Given the description of an element on the screen output the (x, y) to click on. 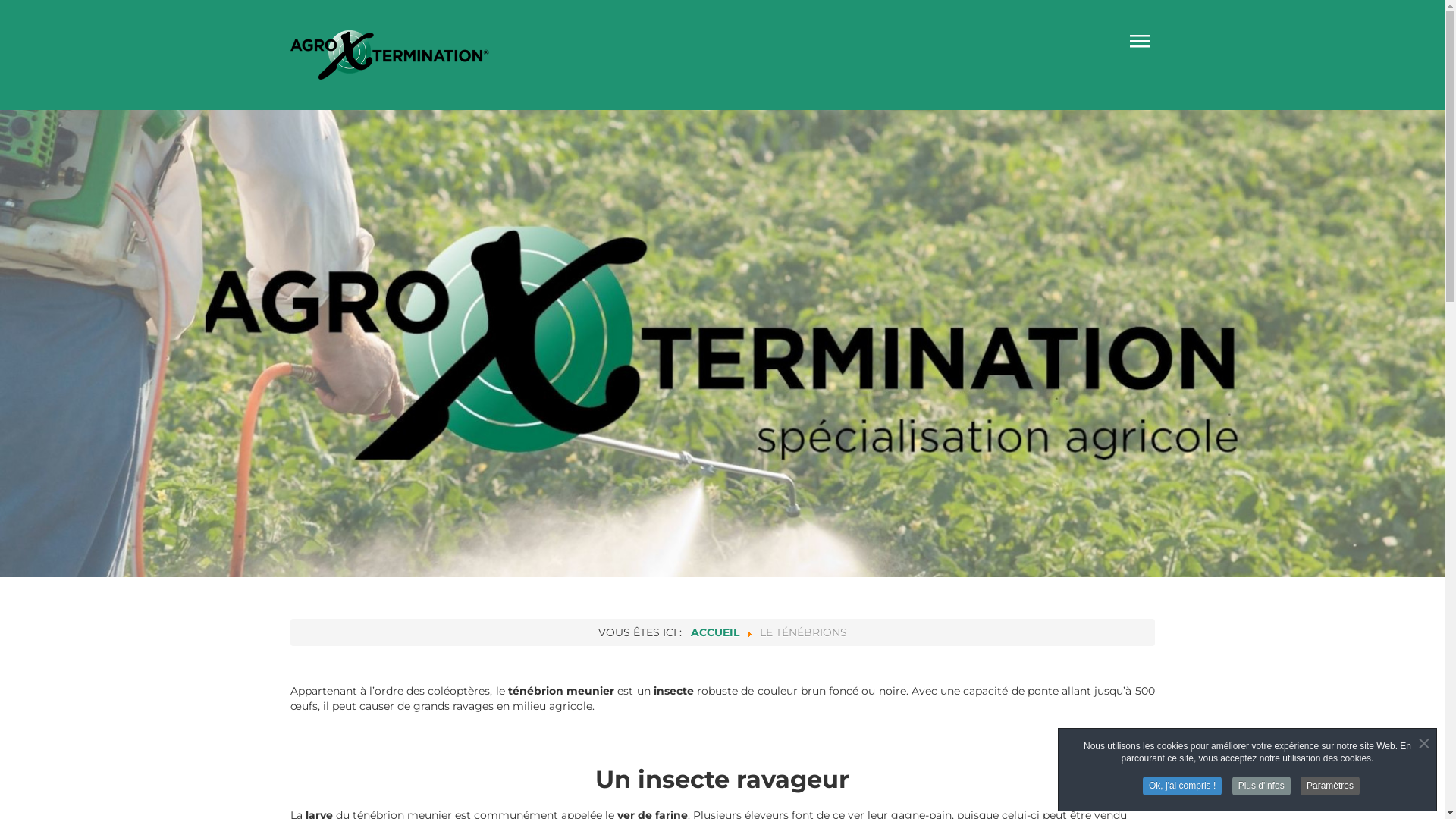
1 Element type: text (686, 303)
Refuser tous les cookies Element type: text (727, 542)
Plus d'infos Element type: text (1261, 785)
ACCUEIL Element type: text (714, 632)
Autoriser tous les cookies Element type: text (567, 542)
Ok, j'ai compris ! Element type: text (1181, 785)
